Given the description of an element on the screen output the (x, y) to click on. 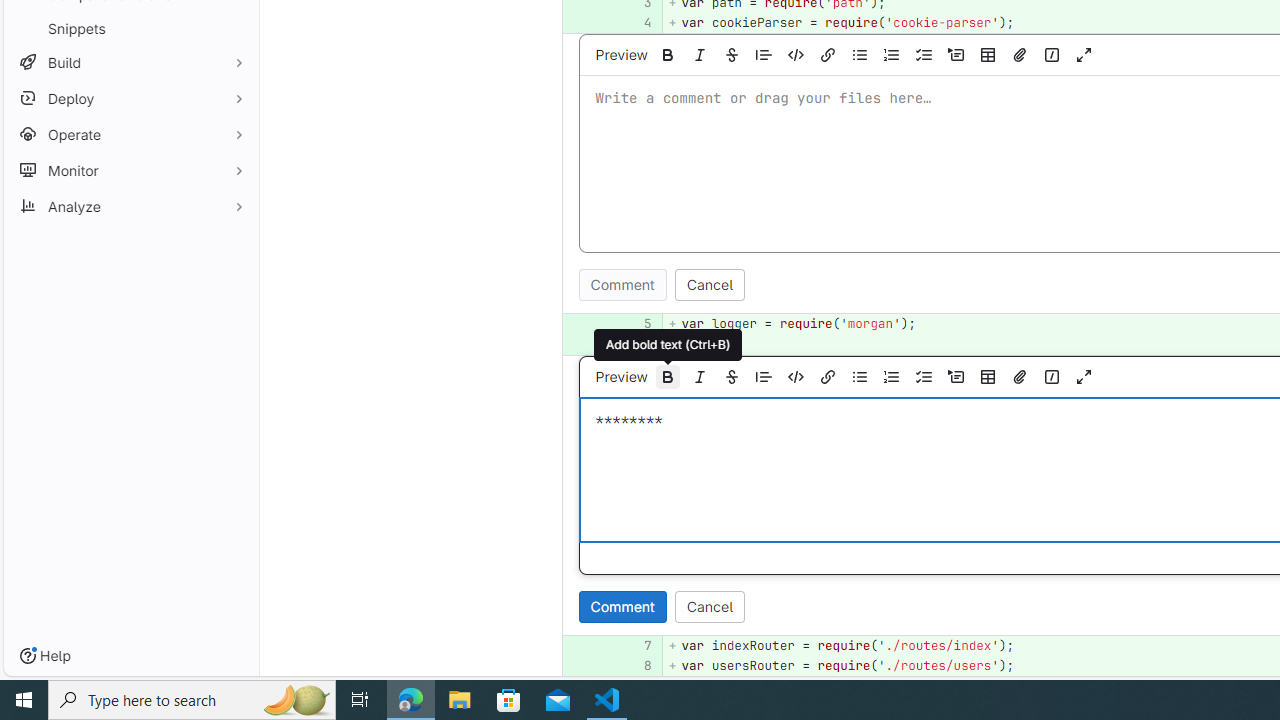
Operate (130, 134)
Monitor (130, 170)
Help (45, 655)
Insert a quote (763, 376)
Add bold text (Ctrl+B) (668, 344)
Add italic text (Ctrl+I) (699, 376)
Preview (621, 376)
7 (637, 645)
Cancel (710, 605)
Deploy (130, 98)
Class: div-dropzone-icon s24 (1182, 470)
6 (633, 344)
Monitor (130, 170)
5 (633, 323)
5 (637, 323)
